Given the description of an element on the screen output the (x, y) to click on. 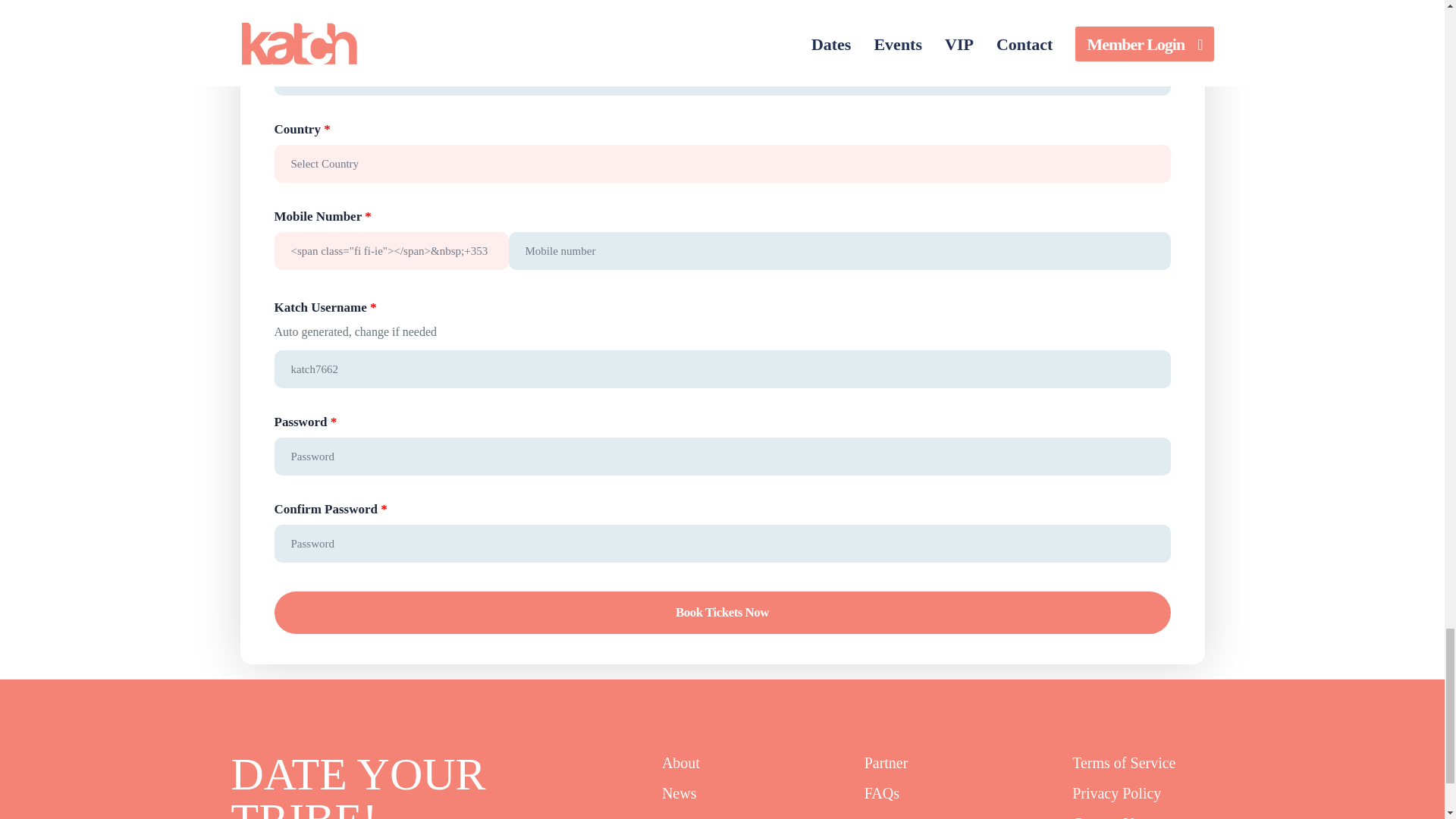
Partner (886, 762)
Terms of Service (1122, 762)
About (681, 762)
News (679, 793)
FAQs (881, 793)
katch7662 (722, 369)
Book Tickets Now (722, 612)
Contact Us (1105, 815)
Privacy Policy (1115, 793)
